Given the description of an element on the screen output the (x, y) to click on. 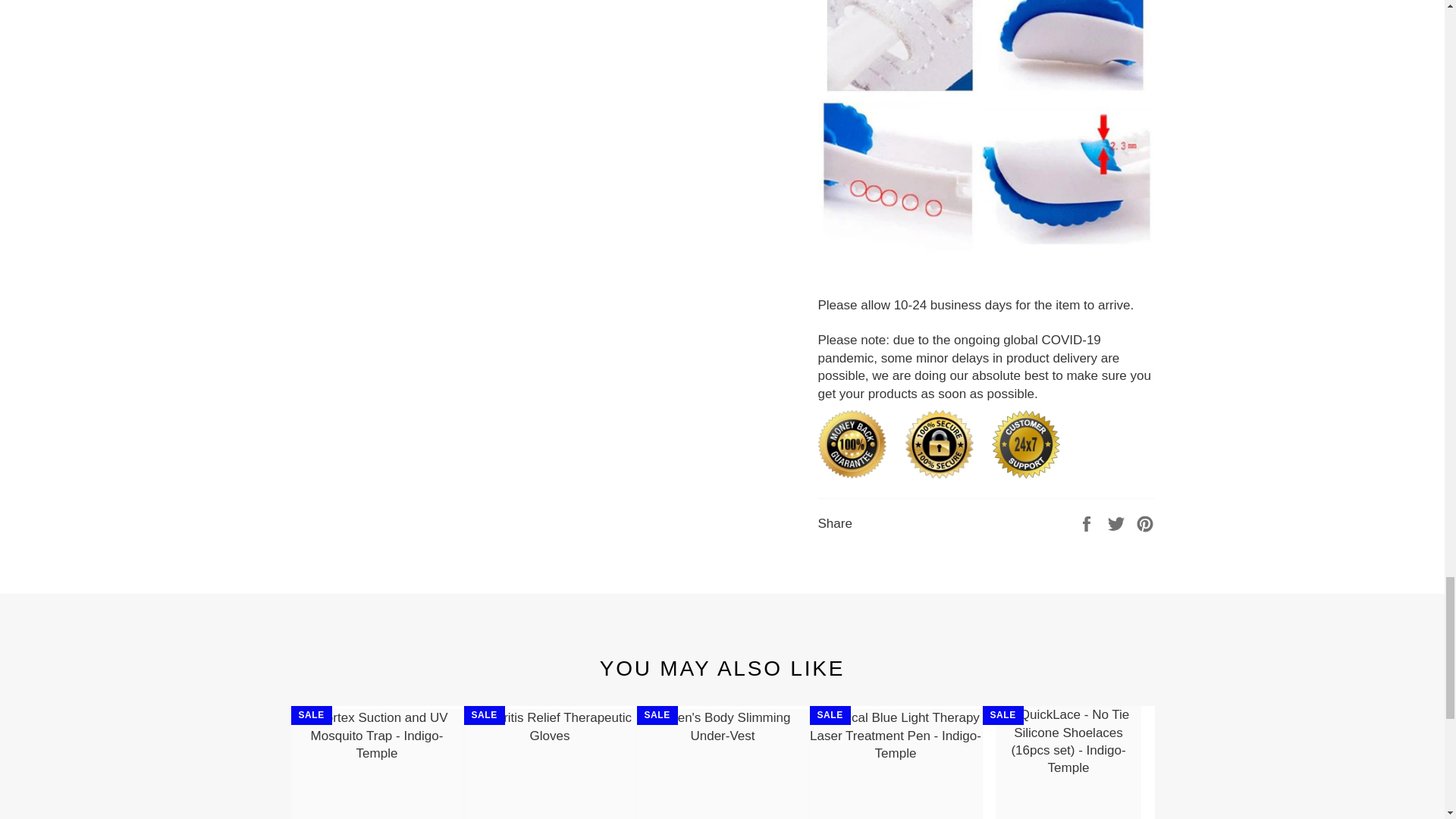
Share on Facebook (1088, 522)
Tweet on Twitter (1117, 522)
Pin on Pinterest (1144, 522)
